Given the description of an element on the screen output the (x, y) to click on. 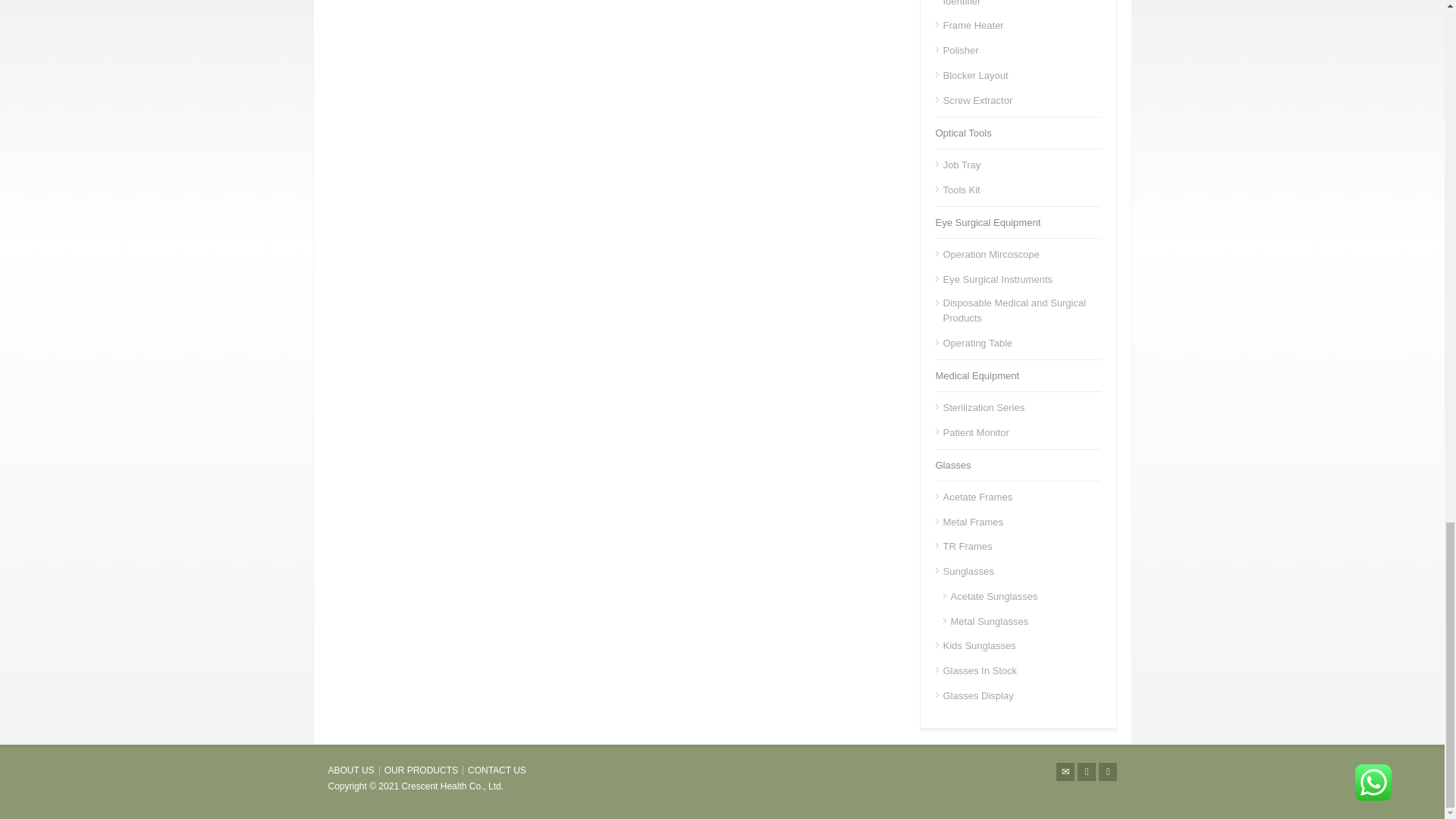
Email (1064, 771)
Skype (1106, 771)
Facebook (1085, 771)
